Given the description of an element on the screen output the (x, y) to click on. 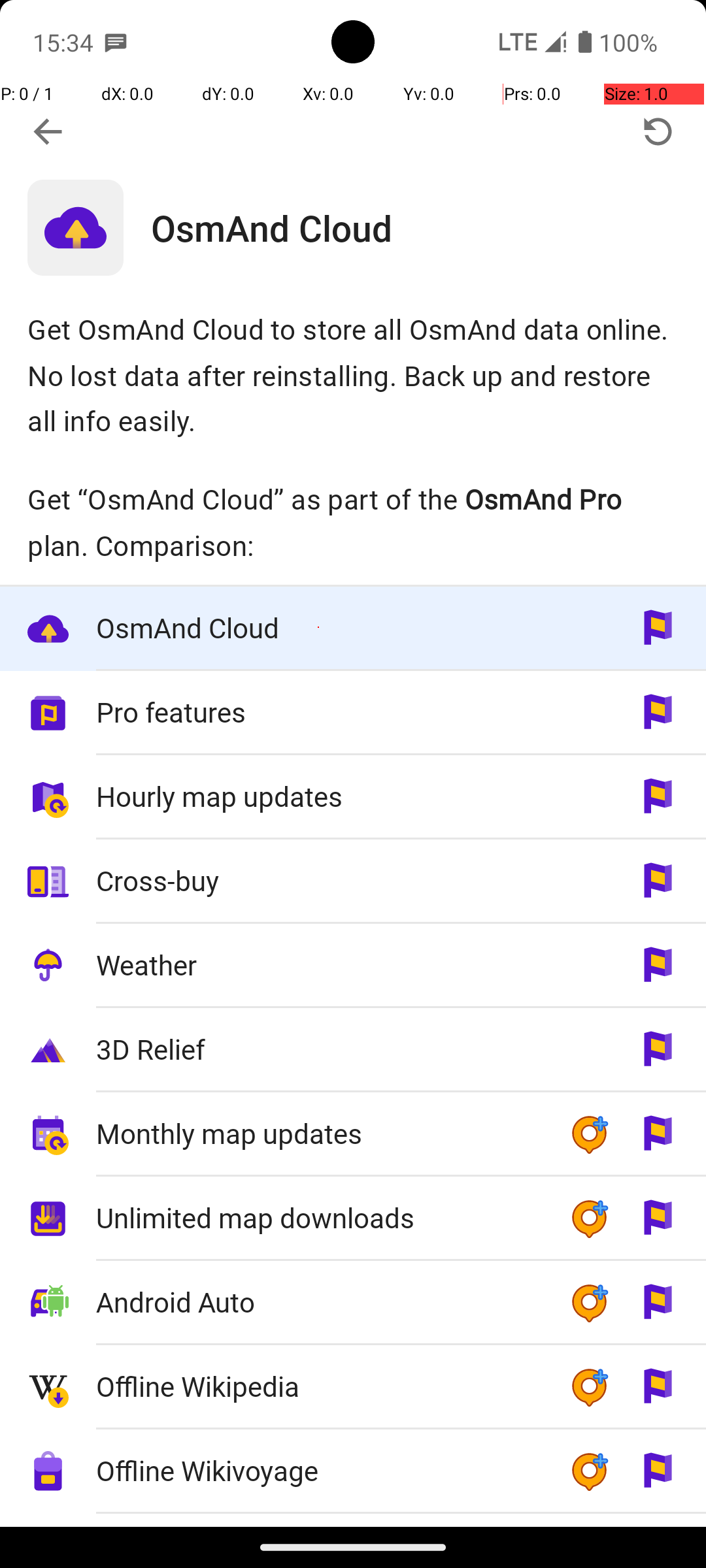
OsmAnd Cloud Element type: android.widget.TextView (428, 227)
Restore purchases Element type: android.widget.ImageButton (657, 131)
Get OsmAnd Cloud to store all OsmAnd data online. No lost data after reinstalling. Back up and restore all info easily. Element type: android.widget.TextView (353, 374)
Get “OsmAnd Cloud” as part of the OsmAnd Pro plan. Comparison: Element type: android.widget.TextView (353, 521)
OsmAnd Cloud available as part of the OsmAnd Pro plan Element type: android.widget.LinearLayout (353, 628)
Pro features available as part of the OsmAnd Pro plan Element type: android.widget.LinearLayout (353, 712)
Hourly map updates available as part of the OsmAnd Pro plan Element type: android.widget.LinearLayout (353, 797)
Cross-buy available as part of the OsmAnd Pro plan Element type: android.widget.LinearLayout (353, 881)
Weather available as part of the OsmAnd Pro plan Element type: android.widget.LinearLayout (353, 965)
3D Relief available as part of the OsmAnd Pro plan Element type: android.widget.LinearLayout (353, 1050)
Monthly map updates available as part of the OsmAnd+ or OsmAnd Pro plan Element type: android.widget.LinearLayout (353, 1134)
Unlimited map downloads available as part of the OsmAnd+ or OsmAnd Pro plan Element type: android.widget.LinearLayout (353, 1218)
Android Auto available as part of the OsmAnd+ or OsmAnd Pro plan Element type: android.widget.LinearLayout (353, 1302)
Offline Wikipedia available as part of the OsmAnd+ or OsmAnd Pro plan Element type: android.widget.LinearLayout (353, 1387)
Offline Wikivoyage available as part of the OsmAnd+ or OsmAnd Pro plan Element type: android.widget.LinearLayout (353, 1471)
External sensors support available as part of the OsmAnd+ or OsmAnd Pro plan Element type: android.widget.LinearLayout (353, 1519)
Pro features Element type: android.widget.TextView (318, 711)
Hourly map updates Element type: android.widget.TextView (318, 795)
Cross-buy Element type: android.widget.TextView (318, 879)
Weather Element type: android.widget.TextView (318, 964)
3D Relief Element type: android.widget.TextView (318, 1048)
Monthly map updates Element type: android.widget.TextView (318, 1132)
Unlimited map downloads Element type: android.widget.TextView (318, 1217)
Offline Wikipedia Element type: android.widget.TextView (318, 1385)
Offline Wikivoyage Element type: android.widget.TextView (318, 1469)
External sensors support Element type: android.widget.TextView (318, 1520)
